Given the description of an element on the screen output the (x, y) to click on. 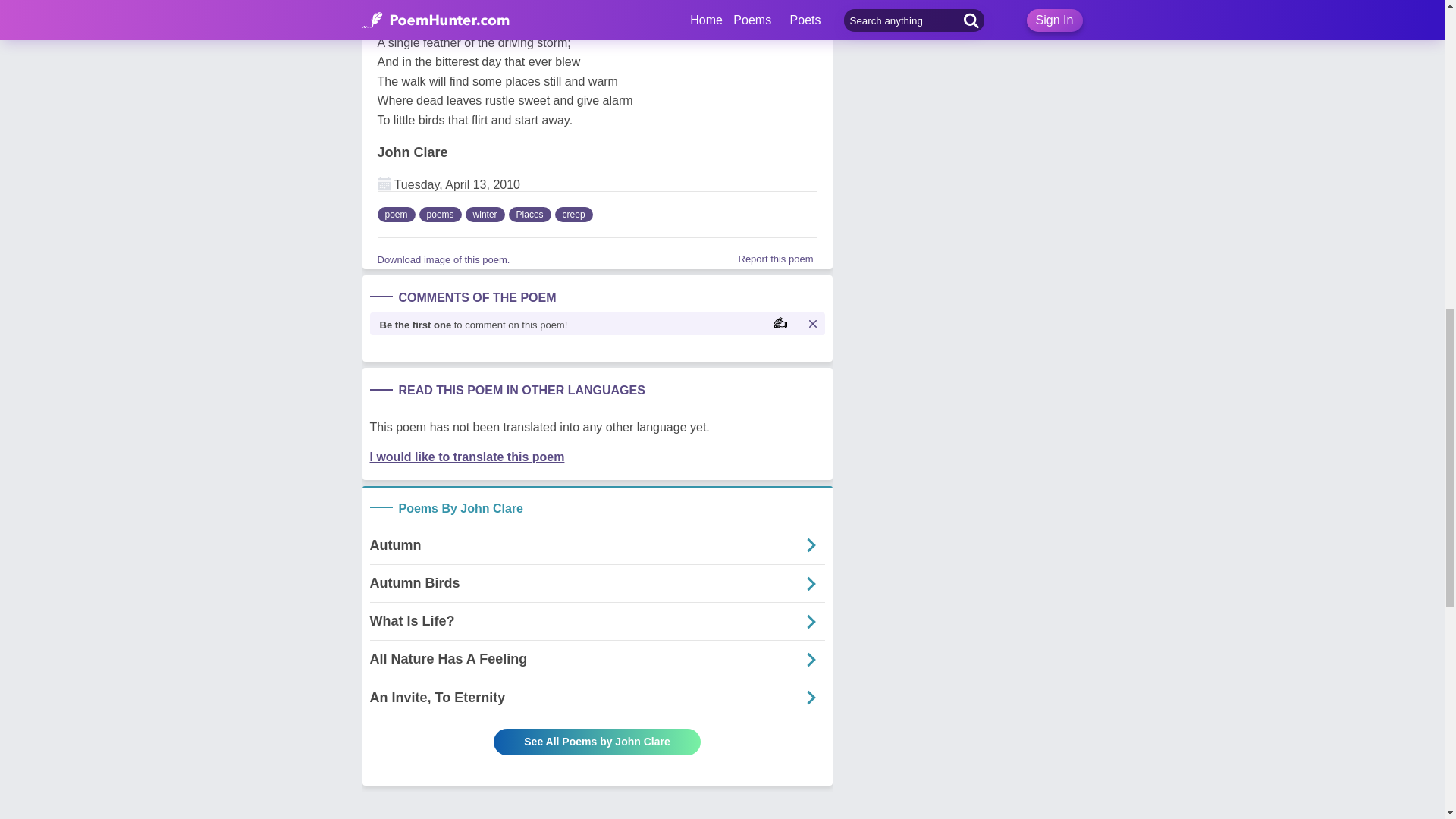
John Clare (412, 151)
